Given the description of an element on the screen output the (x, y) to click on. 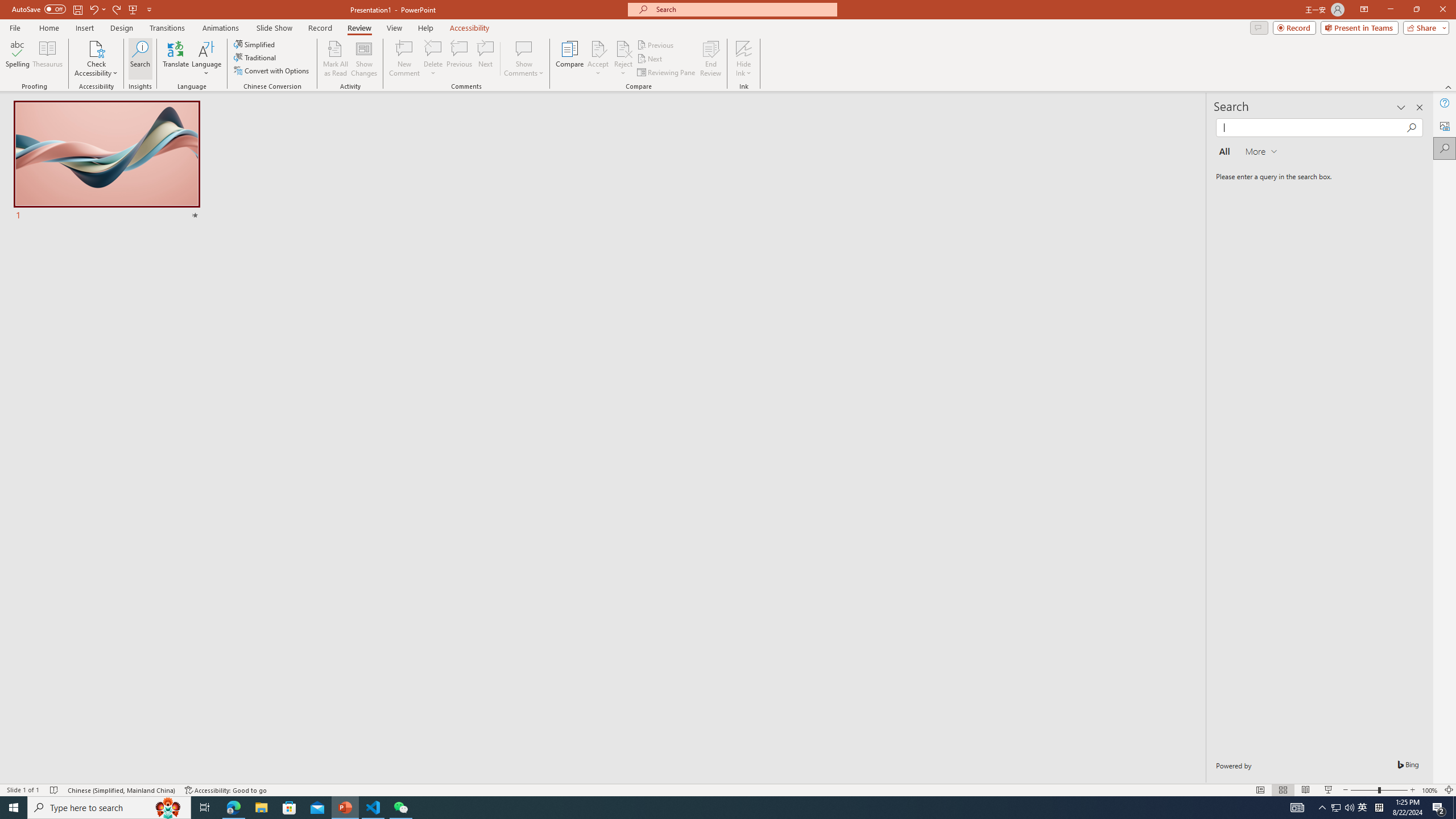
Reviewing Pane (666, 72)
